Given the description of an element on the screen output the (x, y) to click on. 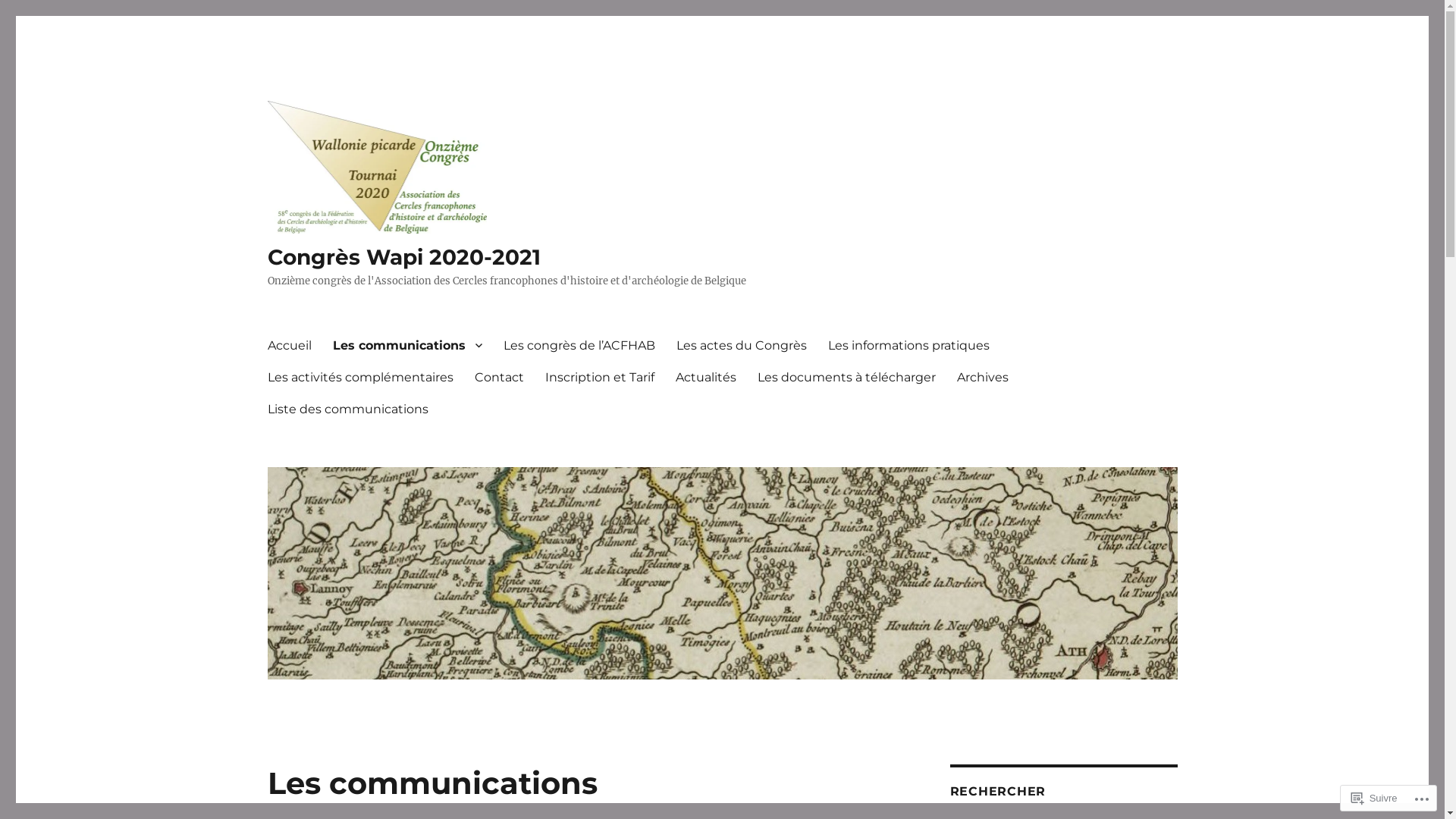
Accueil Element type: text (288, 344)
Liste des communications Element type: text (347, 408)
Suivre Element type: text (1374, 797)
Inscription et Tarif Element type: text (598, 376)
Archives Element type: text (982, 376)
Les informations pratiques Element type: text (908, 344)
Contact Element type: text (499, 376)
Les communications Element type: text (406, 344)
